Given the description of an element on the screen output the (x, y) to click on. 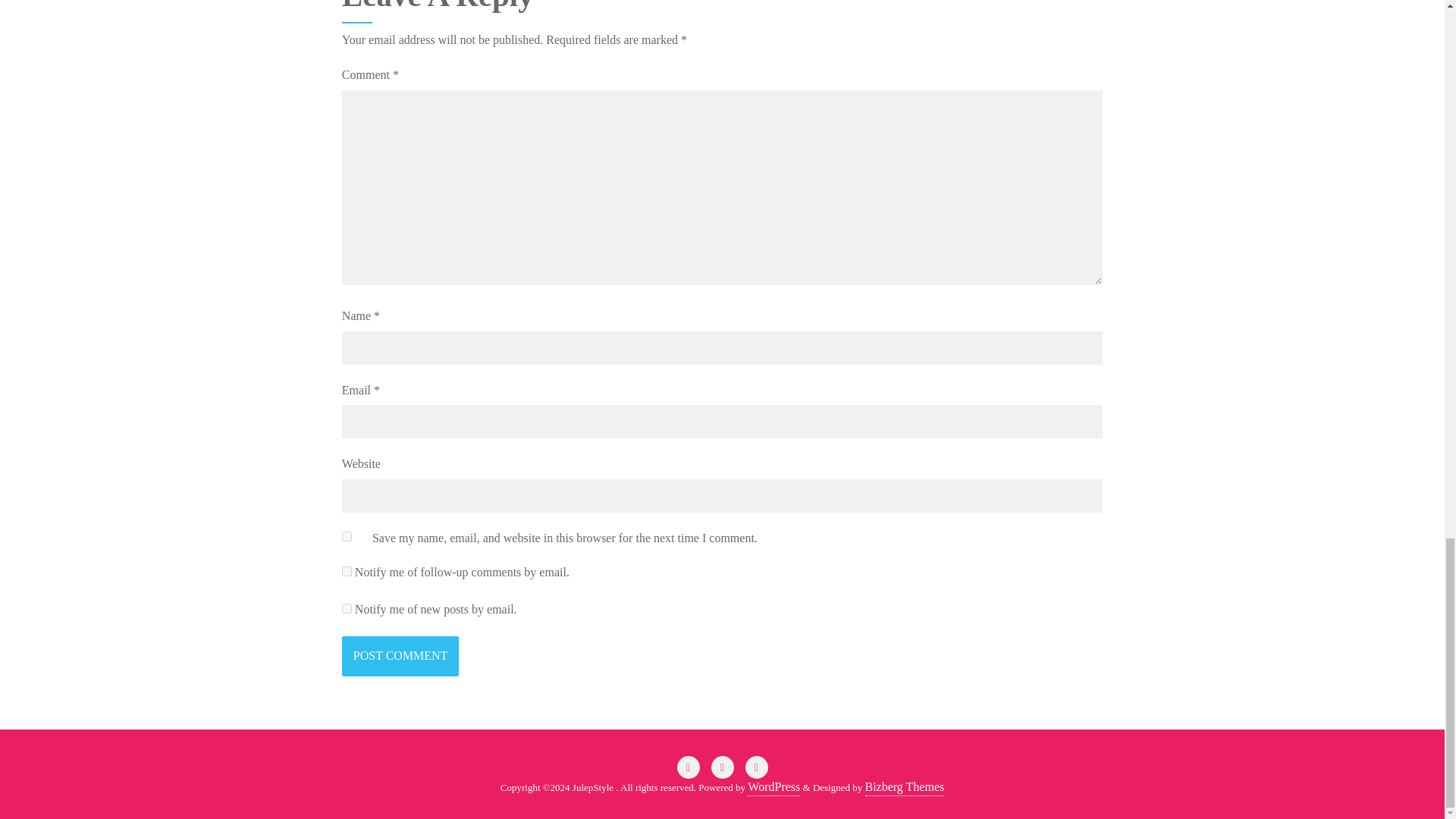
subscribe (347, 608)
Post Comment (401, 656)
subscribe (347, 571)
yes (347, 536)
